Given the description of an element on the screen output the (x, y) to click on. 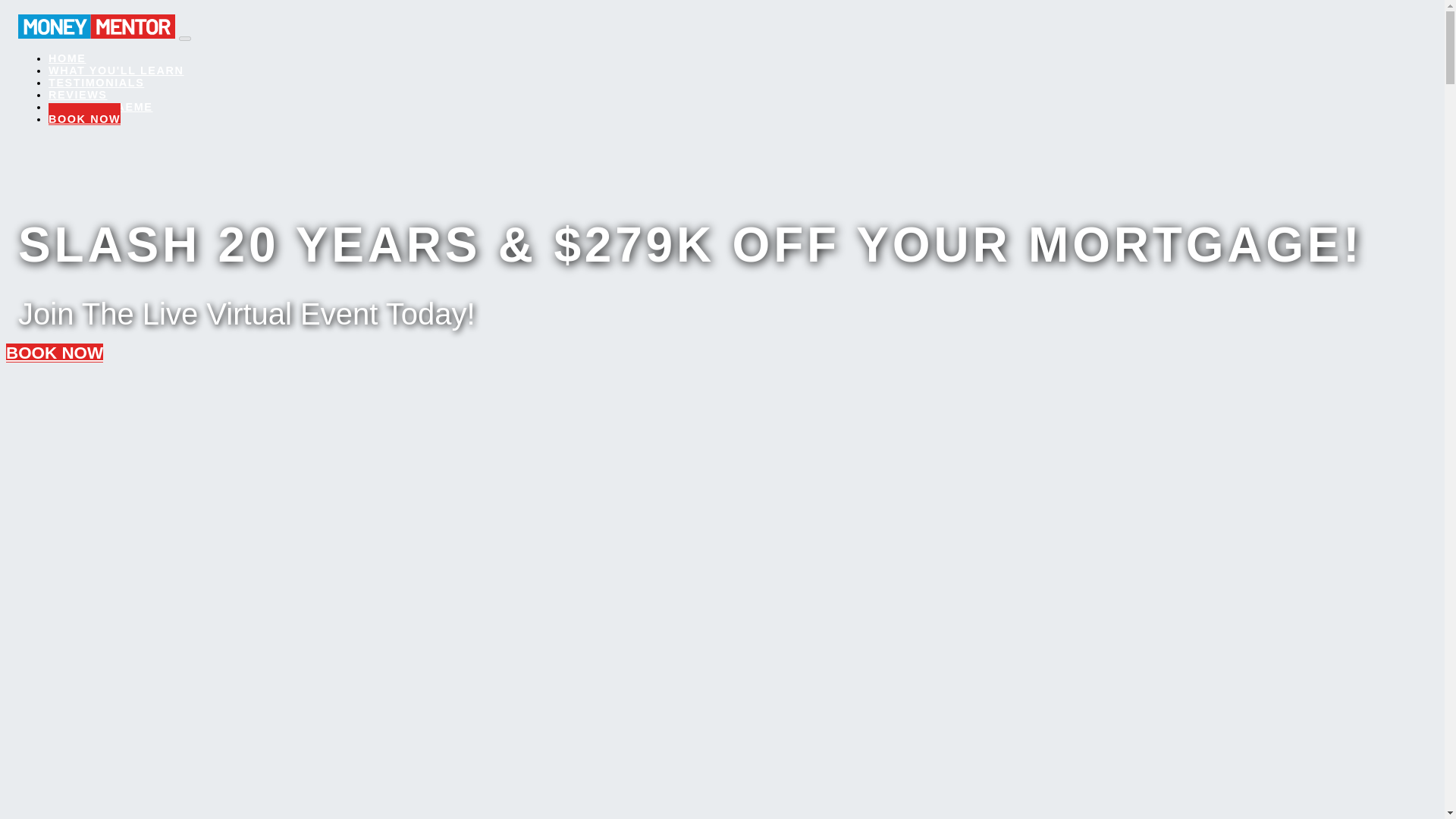
BOOK NOW (54, 352)
ABOUT GRAEME (100, 101)
REVIEWS (77, 89)
TESTIMONIALS (96, 77)
HOME (66, 53)
BOOK NOW (84, 114)
WHAT YOU'LL LEARN (116, 65)
